Given the description of an element on the screen output the (x, y) to click on. 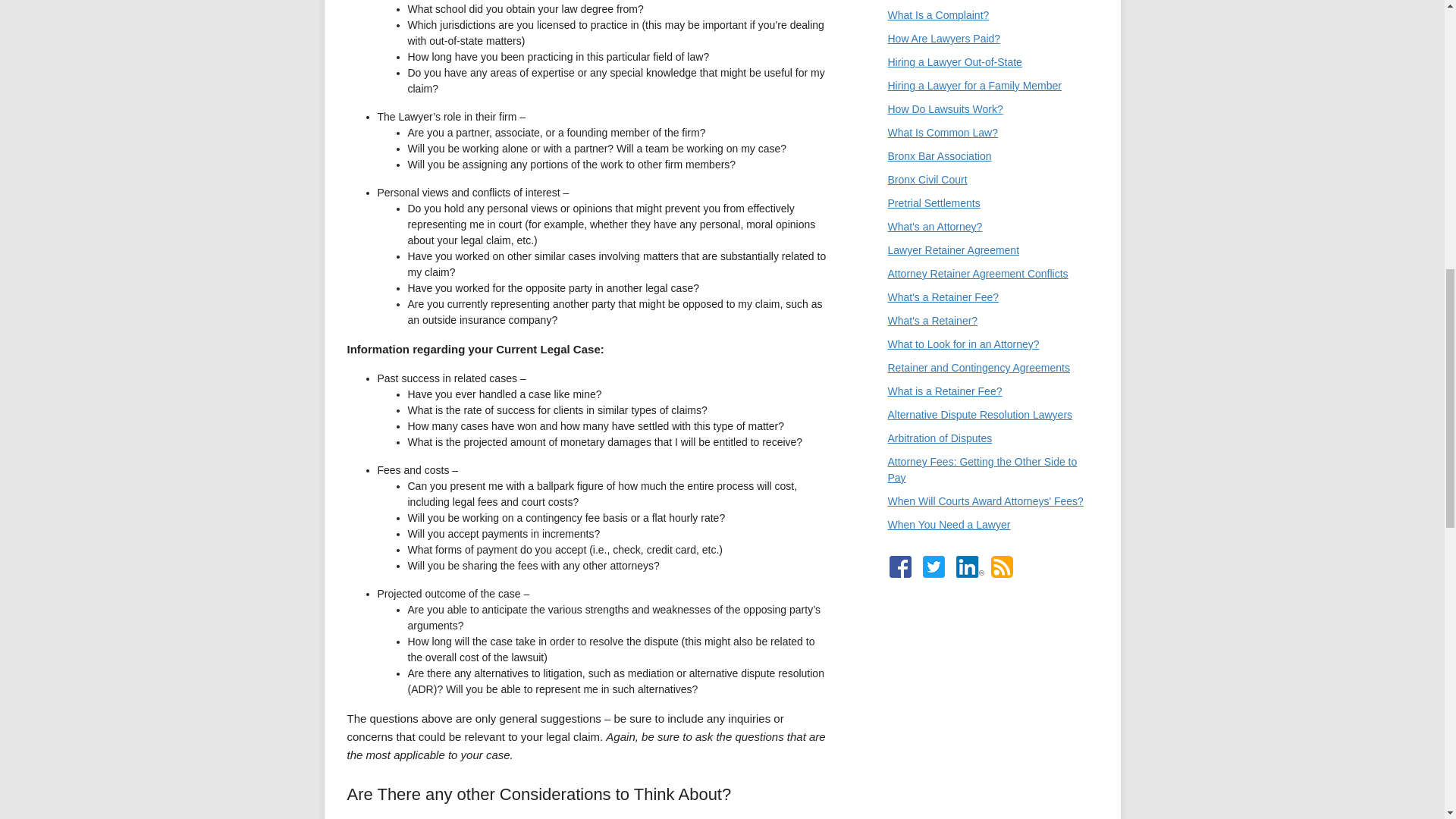
Follow us on Twitter (932, 567)
Like us on Facebook (899, 567)
Follow us on LinkedIn (969, 567)
RSS Feed (1000, 567)
